Given the description of an element on the screen output the (x, y) to click on. 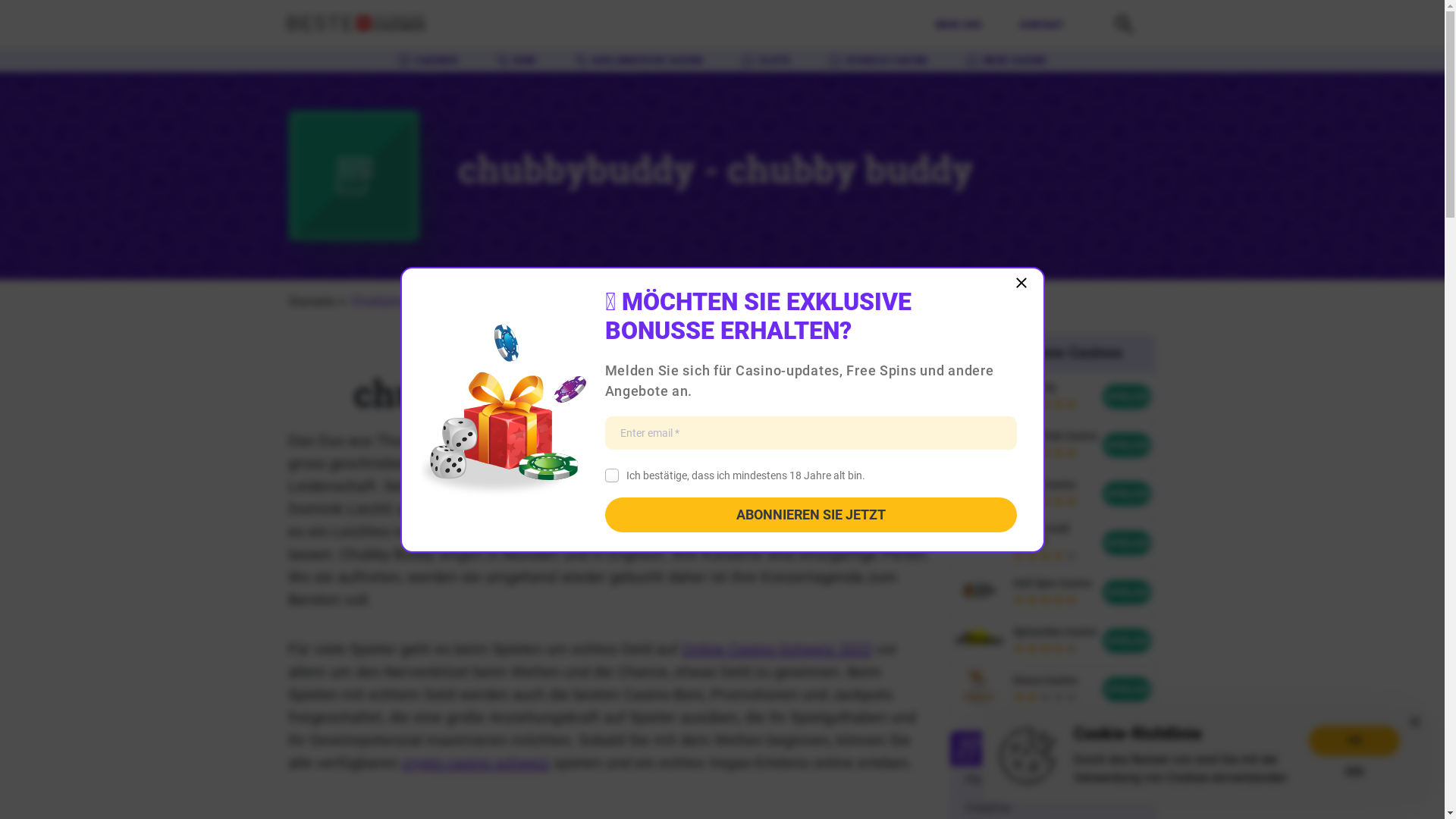
ECHGELD CASINO Element type: text (878, 60)
CASINOS Element type: text (428, 60)
CrazyFox Element type: text (987, 807)
SPIELEN Element type: text (1126, 639)
Playamo Element type: text (986, 779)
OK Element type: text (1353, 739)
SPIELEN Element type: text (1126, 493)
SPIELEN Element type: text (1126, 542)
Starseite Element type: text (311, 301)
Suchen Element type: text (1123, 32)
crypto casino schweiz Element type: text (475, 762)
KONTAKT Element type: text (1041, 24)
SLOTS Element type: text (765, 60)
SPIELEN Element type: text (1126, 591)
BONI Element type: text (515, 60)
SPIELEN Element type: text (1126, 445)
NEUE CASINO Element type: text (1006, 60)
Online Casino Schweiz 2022 Element type: text (776, 649)
SPIELEN Element type: text (1126, 396)
SPIELEN Element type: text (1126, 688)
info Element type: text (1353, 770)
